Given the description of an element on the screen output the (x, y) to click on. 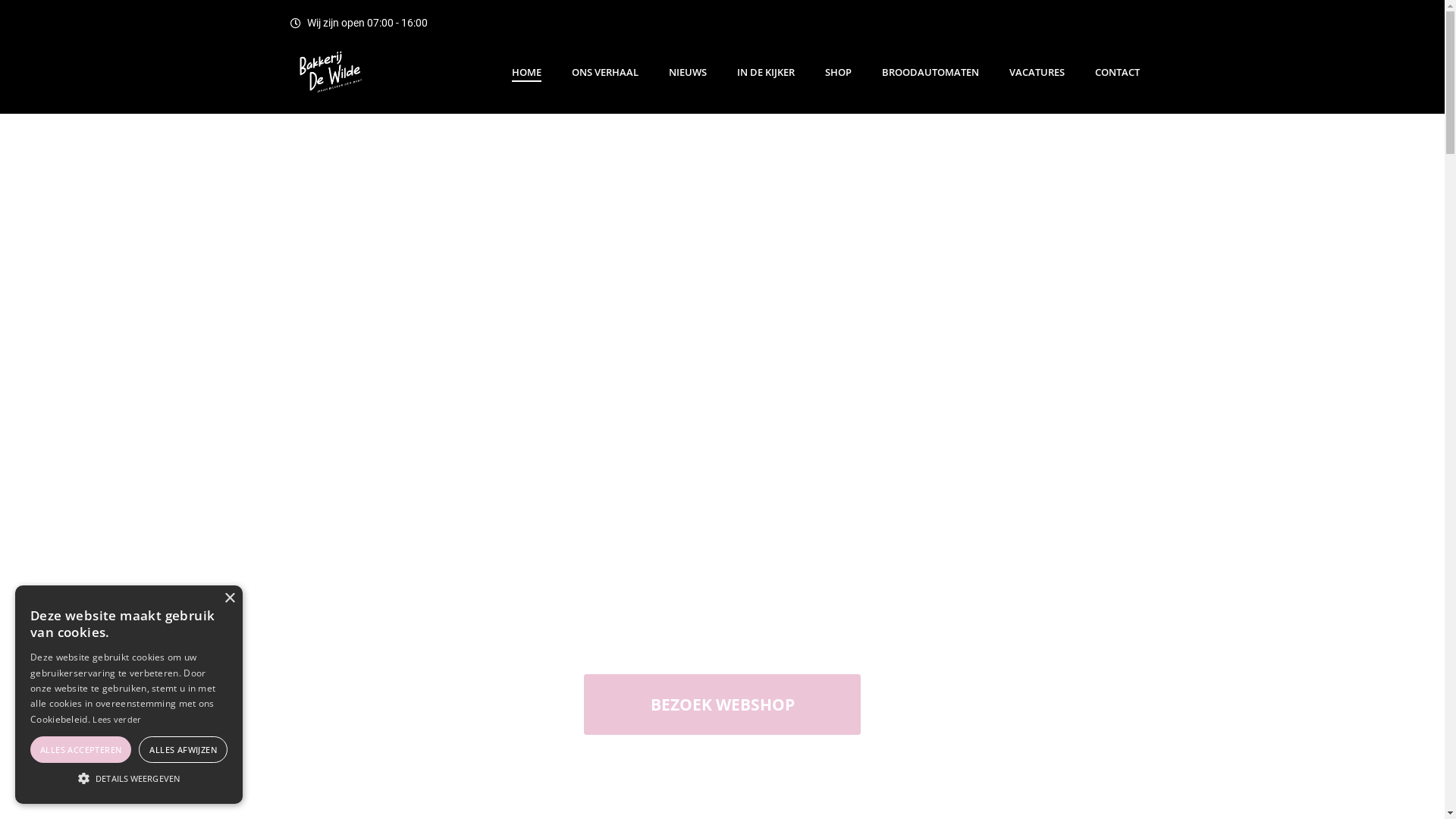
CONTACT Element type: text (1117, 66)
IN DE KIJKER Element type: text (765, 66)
NIEUWS Element type: text (687, 66)
BEZOEK WEBSHOP Element type: text (721, 704)
VACATURES Element type: text (1035, 66)
BROODAUTOMATEN Element type: text (929, 66)
HOME Element type: text (525, 66)
ONS VERHAAL Element type: text (604, 66)
Lees verder Element type: text (116, 718)
SHOP Element type: text (838, 66)
